Given the description of an element on the screen output the (x, y) to click on. 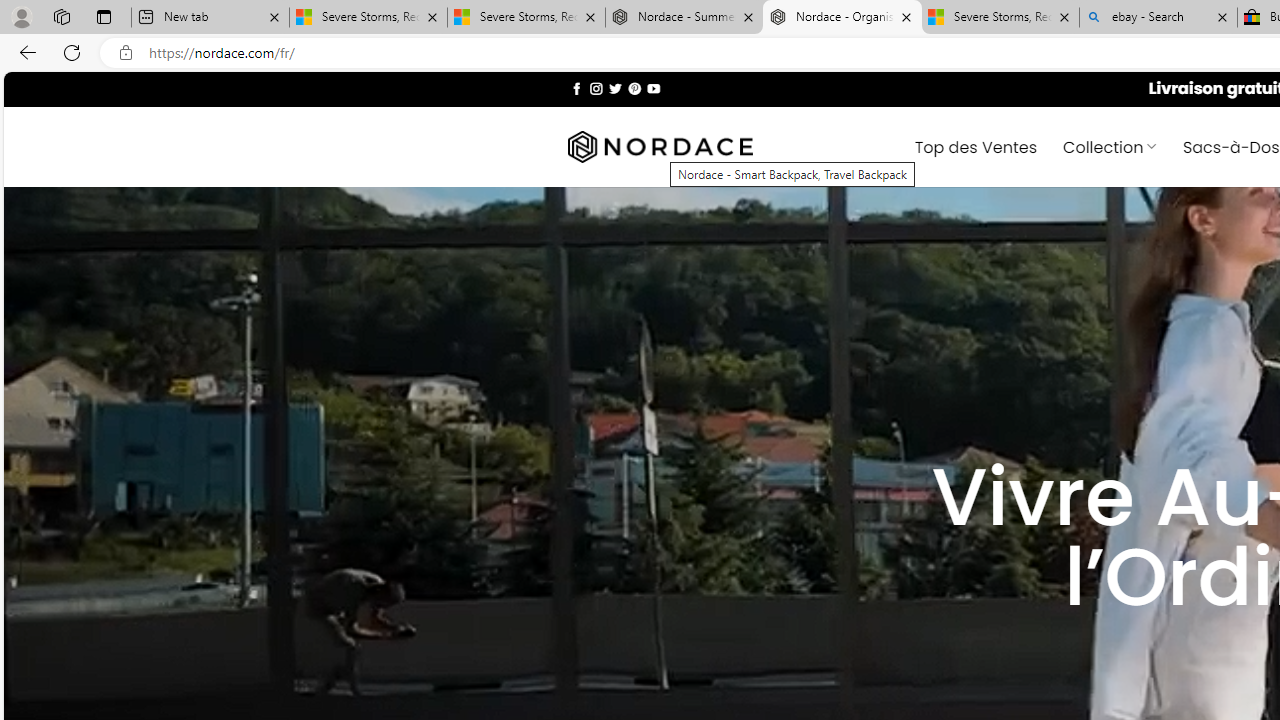
Nous suivre sur Youtube (653, 88)
Nous suivre sur Facebook (576, 88)
Nous suivre sur Instagram (596, 88)
  Top des Ventes (975, 146)
